Given the description of an element on the screen output the (x, y) to click on. 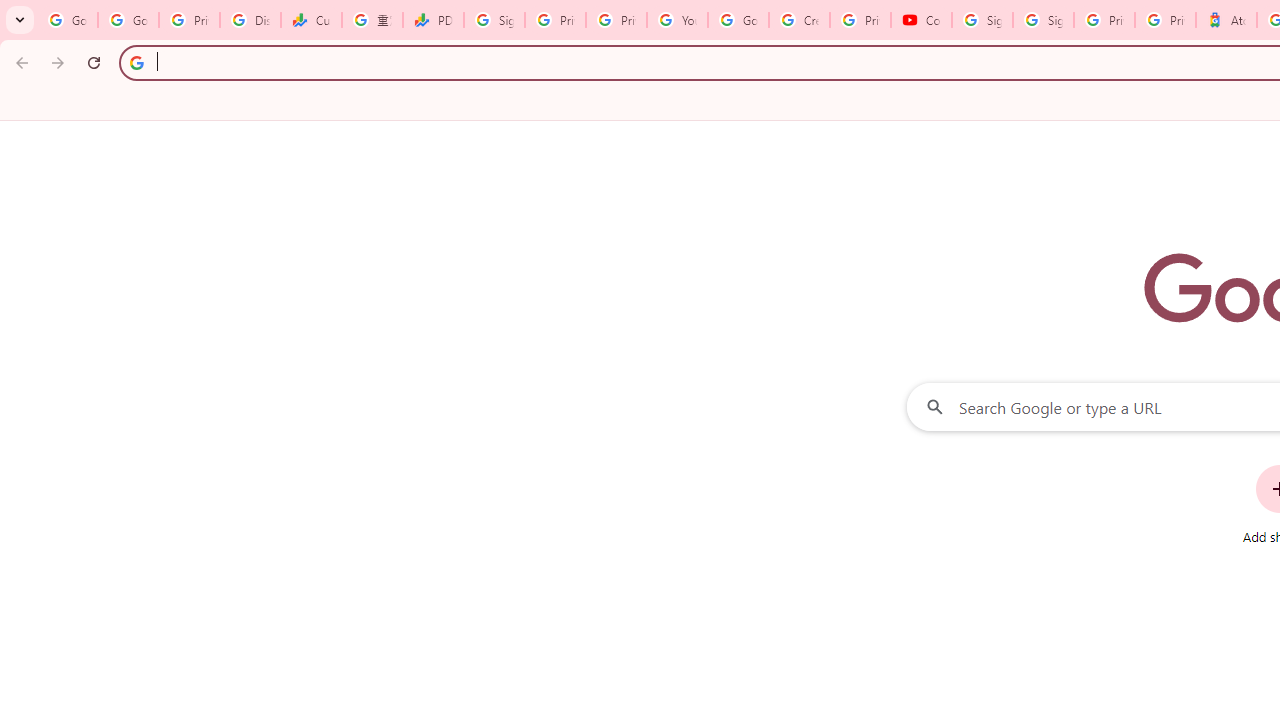
Google Workspace Admin Community (67, 20)
Sign in - Google Accounts (1042, 20)
Google Account Help (738, 20)
YouTube (676, 20)
Create your Google Account (799, 20)
